Given the description of an element on the screen output the (x, y) to click on. 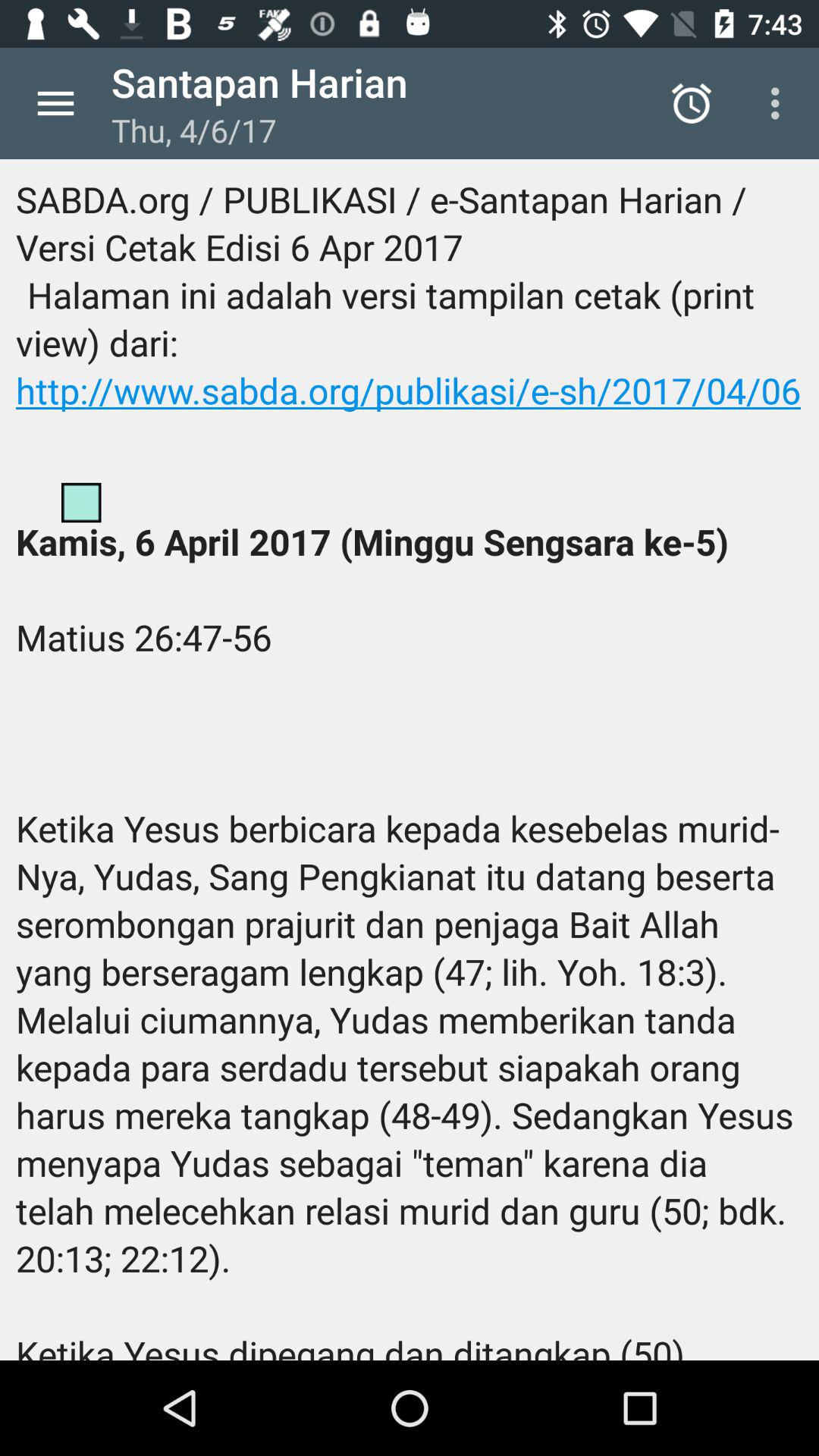
tap the item to the left of santapan harian item (55, 103)
